Given the description of an element on the screen output the (x, y) to click on. 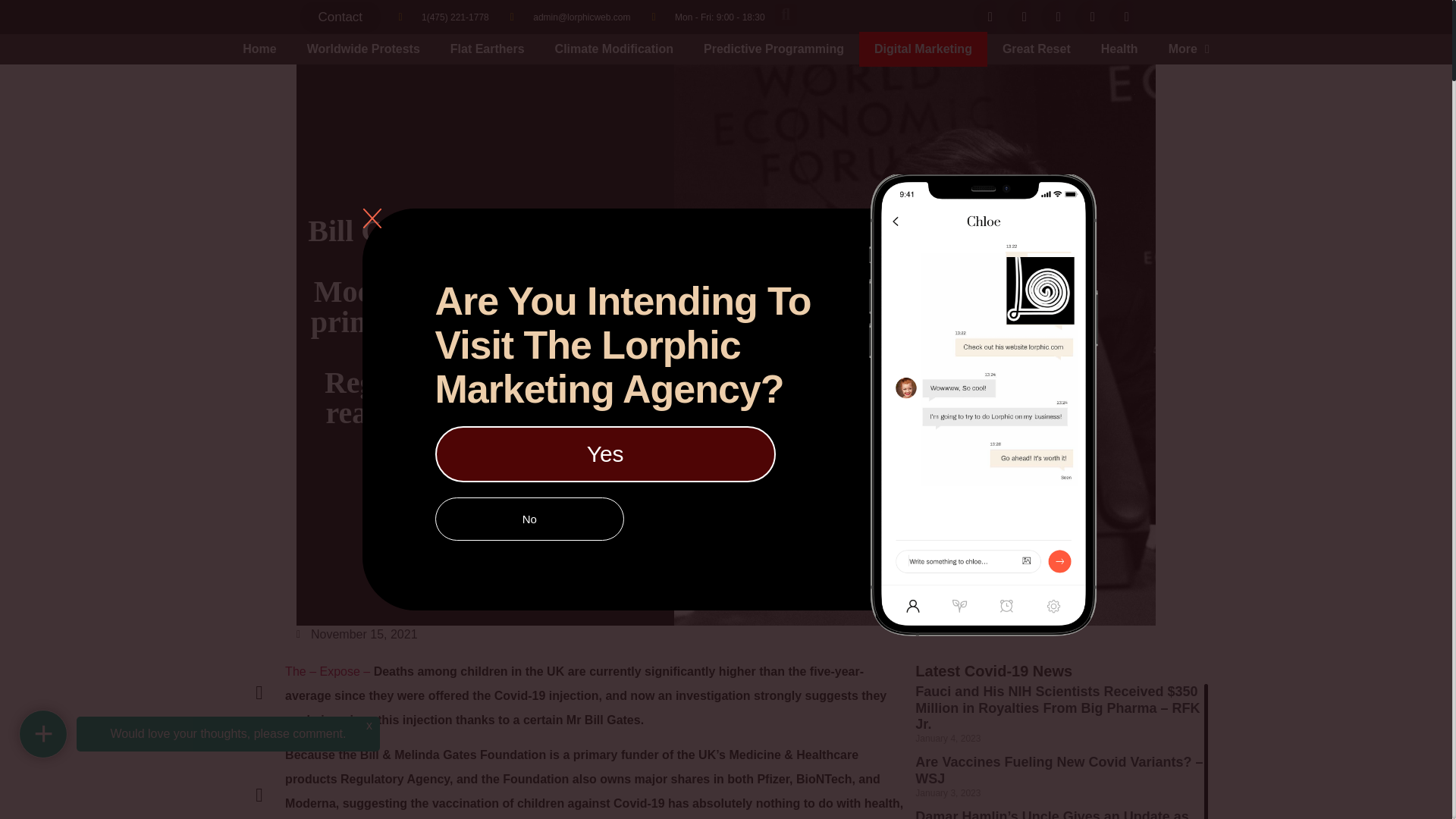
Flat Earthers (487, 48)
Climate Modification (614, 48)
Contact (340, 16)
Home (259, 48)
More (1188, 48)
Digital Marketing (923, 48)
Predictive Programming (773, 48)
Health (1119, 48)
Worldwide Protests (363, 48)
Great Reset (1036, 48)
